Given the description of an element on the screen output the (x, y) to click on. 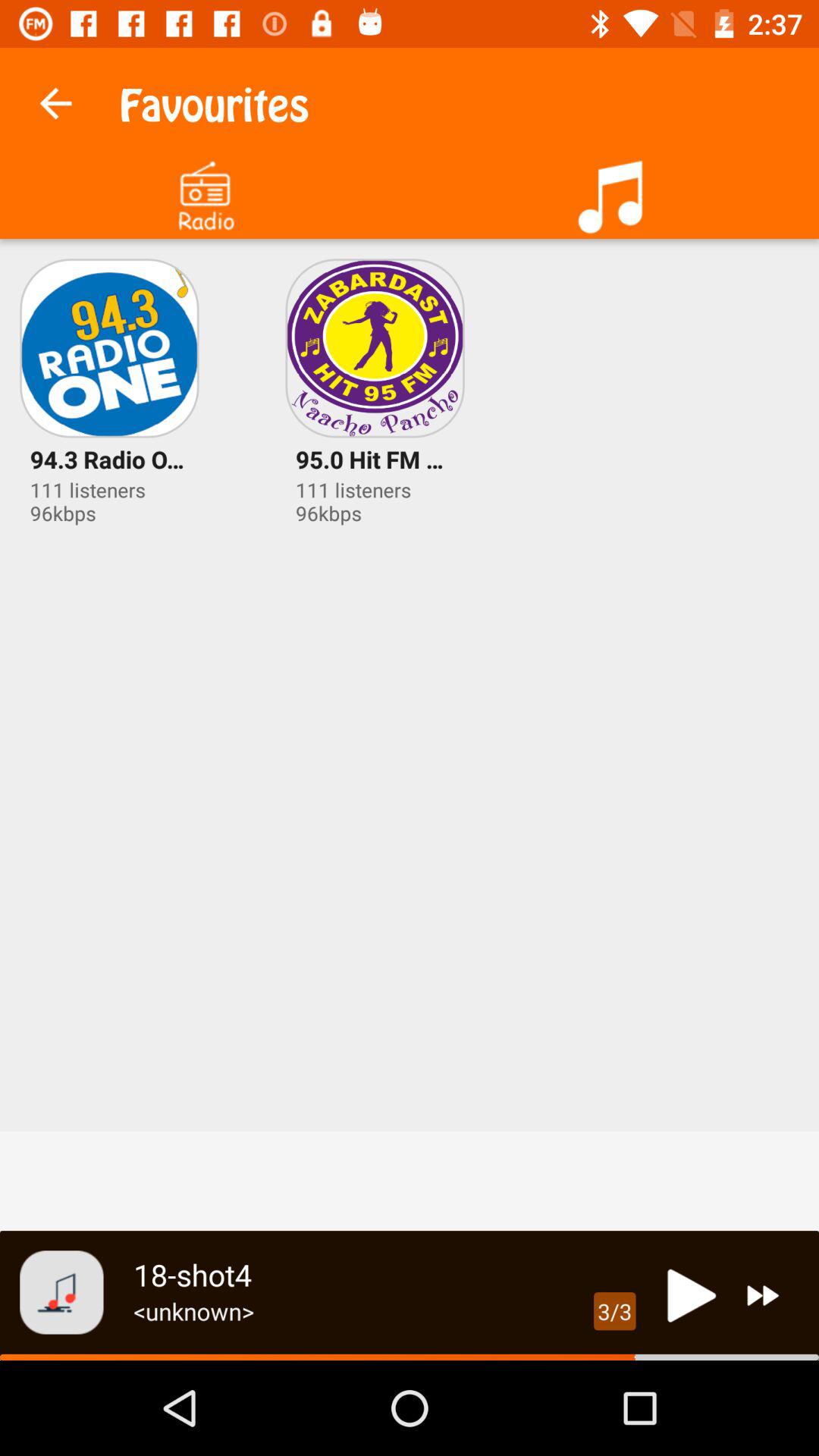
open the icon to the left of favourites icon (55, 99)
